Given the description of an element on the screen output the (x, y) to click on. 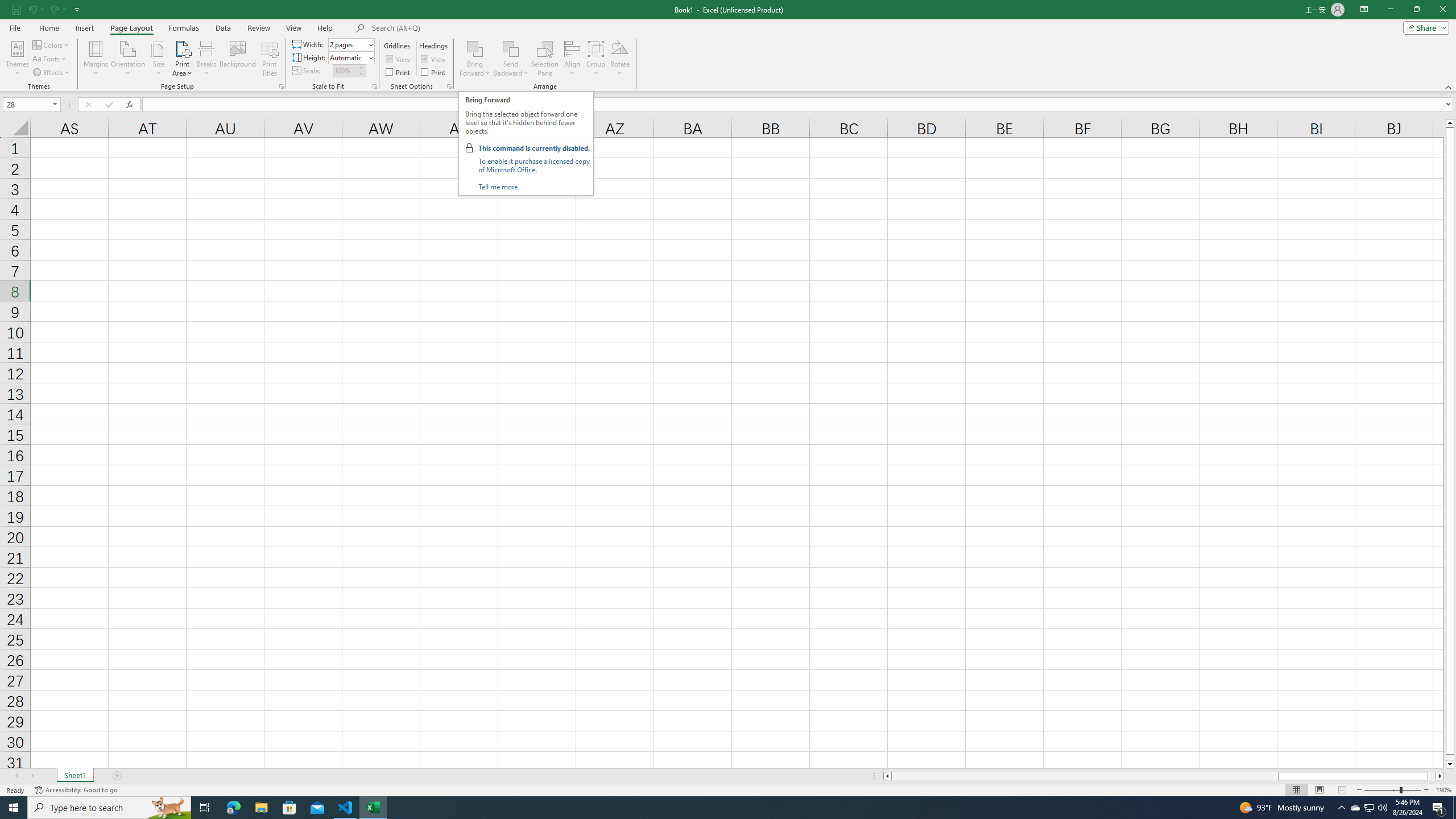
Height (347, 57)
Page Setup (374, 85)
Group (595, 58)
Send Backward (510, 58)
Fonts (49, 58)
Selection Pane... (544, 58)
More (360, 67)
Sheet Options (449, 85)
